Given the description of an element on the screen output the (x, y) to click on. 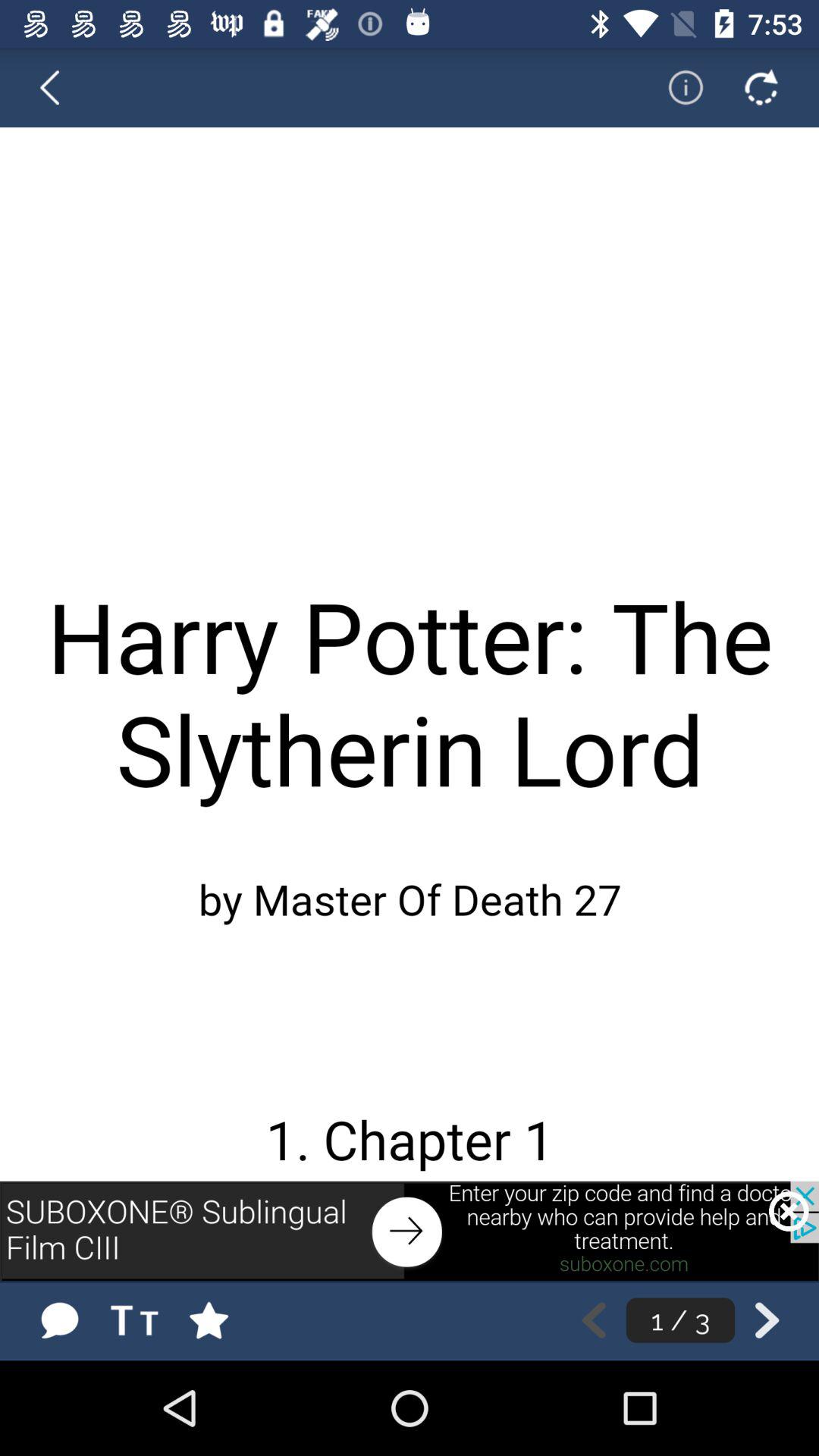
go to previous (409, 1230)
